Given the description of an element on the screen output the (x, y) to click on. 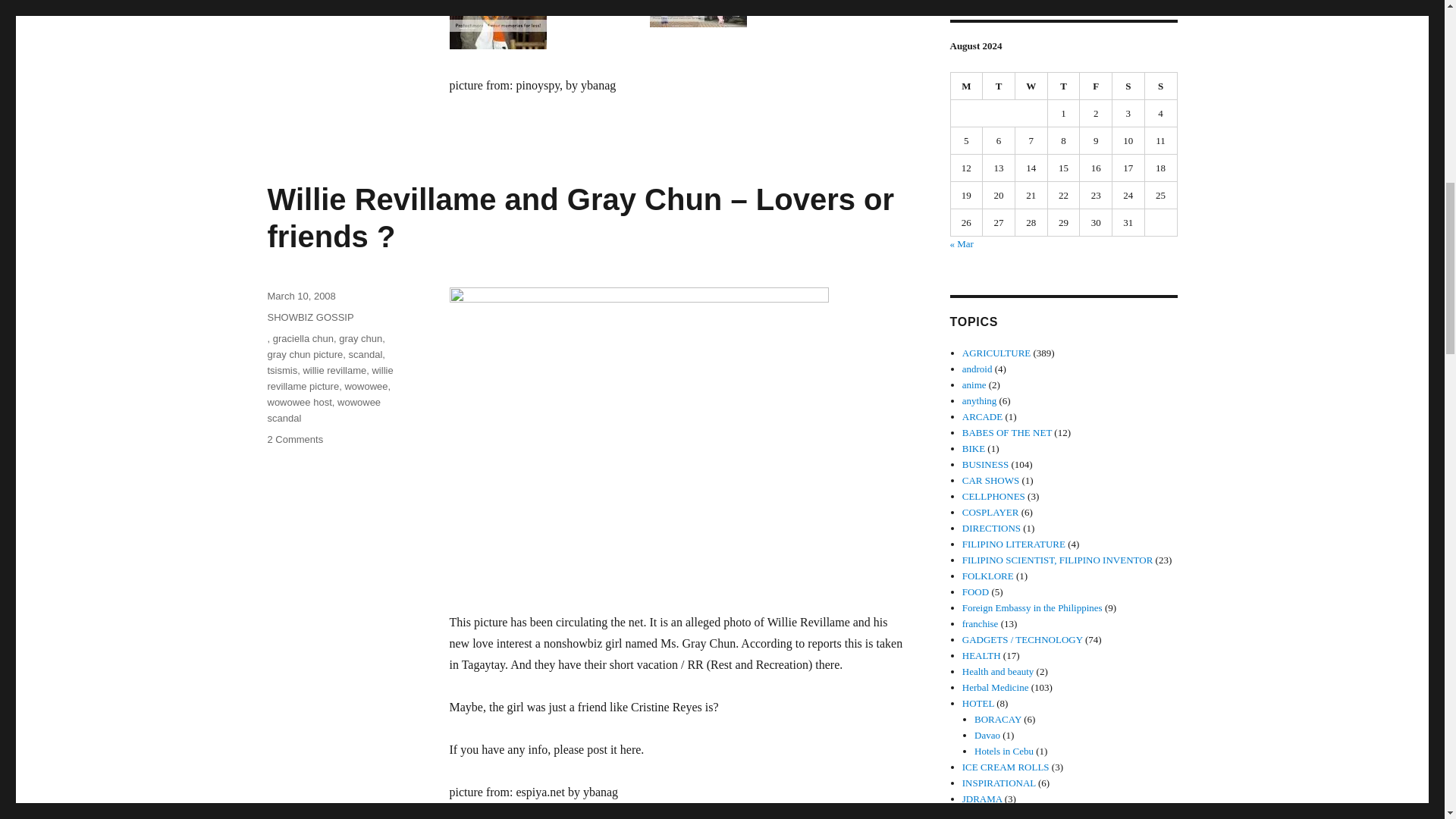
wowowee (365, 386)
anime (974, 384)
gray chun (360, 337)
graciella chun (303, 337)
Sunday (1160, 85)
scandal (364, 354)
March 10, 2008 (300, 296)
willie revillame (334, 369)
willie revillame picture (329, 378)
Tuesday (998, 85)
